Given the description of an element on the screen output the (x, y) to click on. 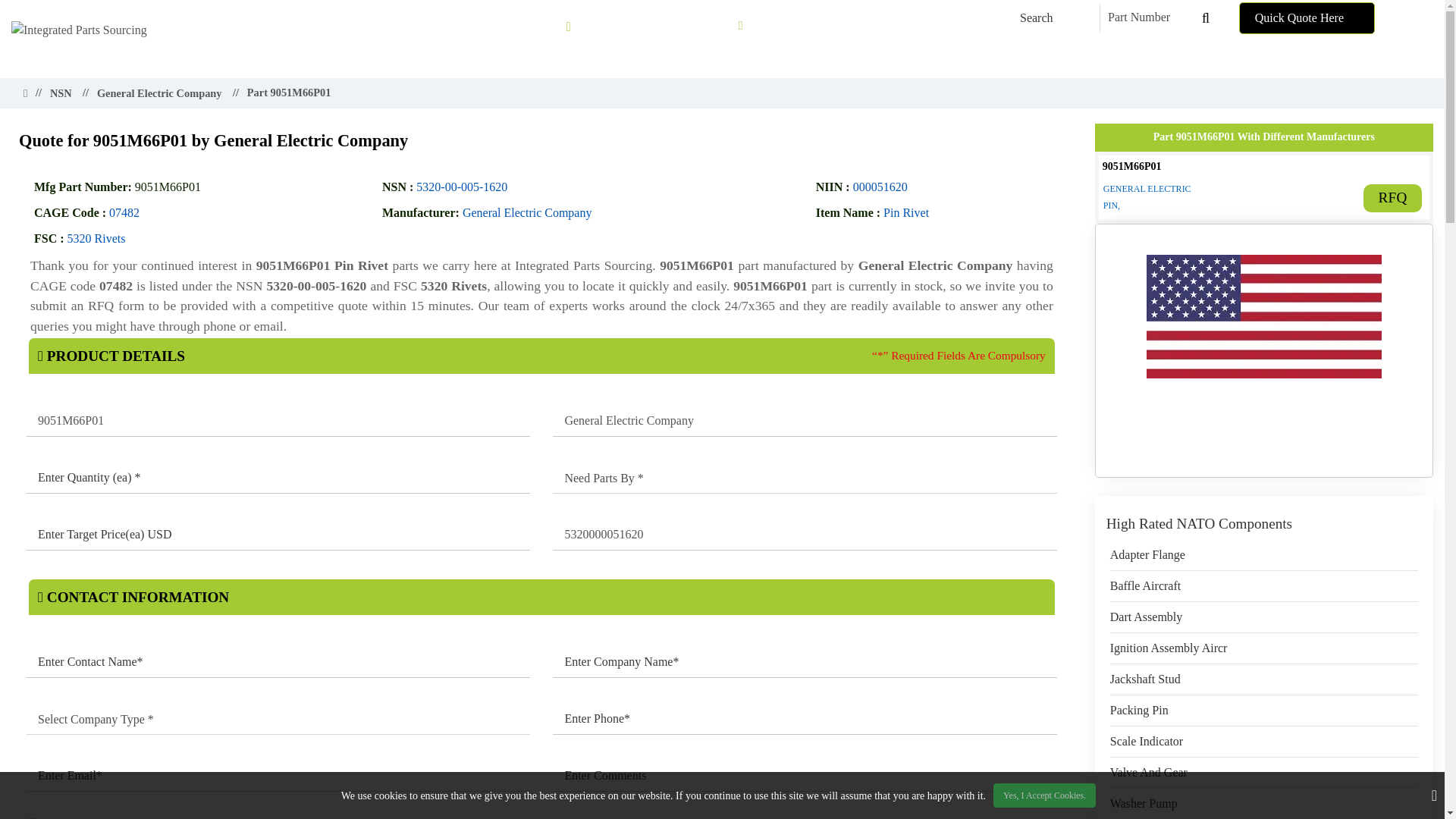
FEATURED PARTS (1239, 57)
5320000051620 (805, 535)
General Electric Company (805, 421)
NSN PARTS (681, 57)
BOARD LEVEL COMPONENTS (925, 57)
  Quick Quote Here (1306, 18)
9051M66P01 (277, 421)
ELECTRICAL CONNECTORS (1096, 57)
AVIATION PARTS (779, 57)
